Given the description of an element on the screen output the (x, y) to click on. 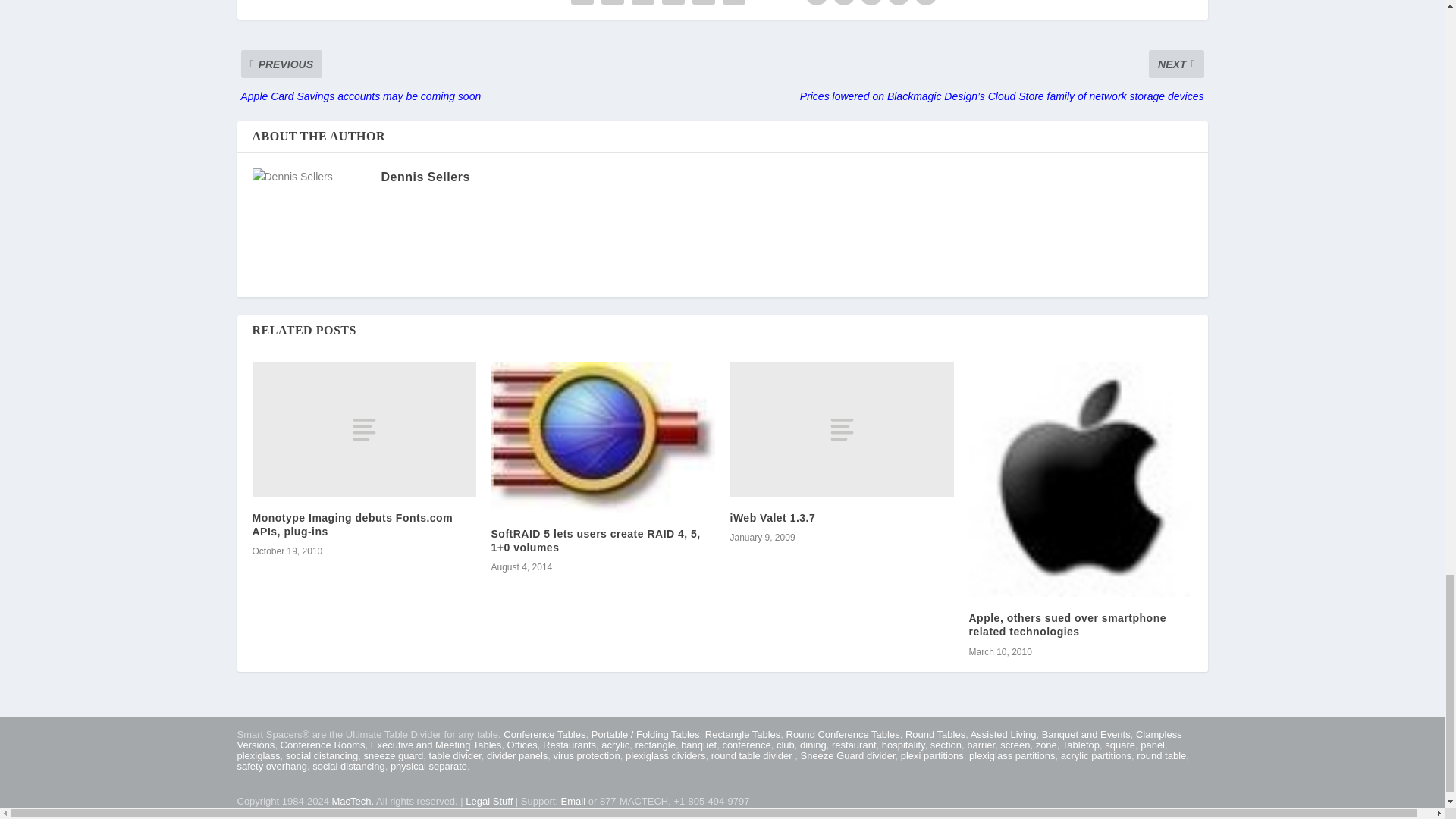
Share "News items you should check out: March 2" via Twitter (611, 4)
Share "News items you should check out: March 2" via Tumblr (642, 4)
